Given the description of an element on the screen output the (x, y) to click on. 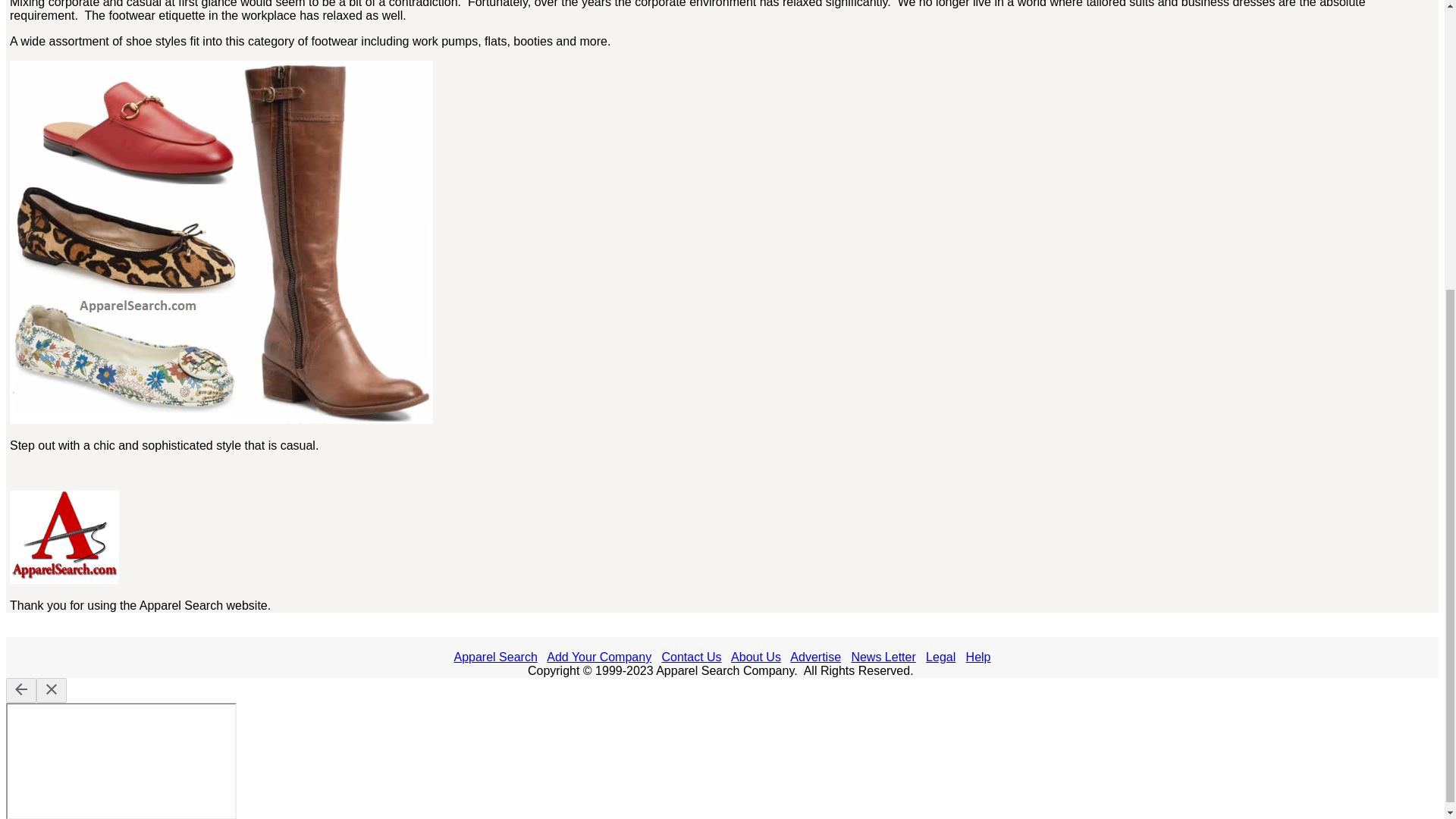
About Us (755, 656)
News Letter (882, 656)
Advertise (815, 656)
Help (978, 656)
Legal (940, 656)
Contact Us (690, 656)
Apparel Search (494, 656)
Add Your Company (598, 656)
